Given the description of an element on the screen output the (x, y) to click on. 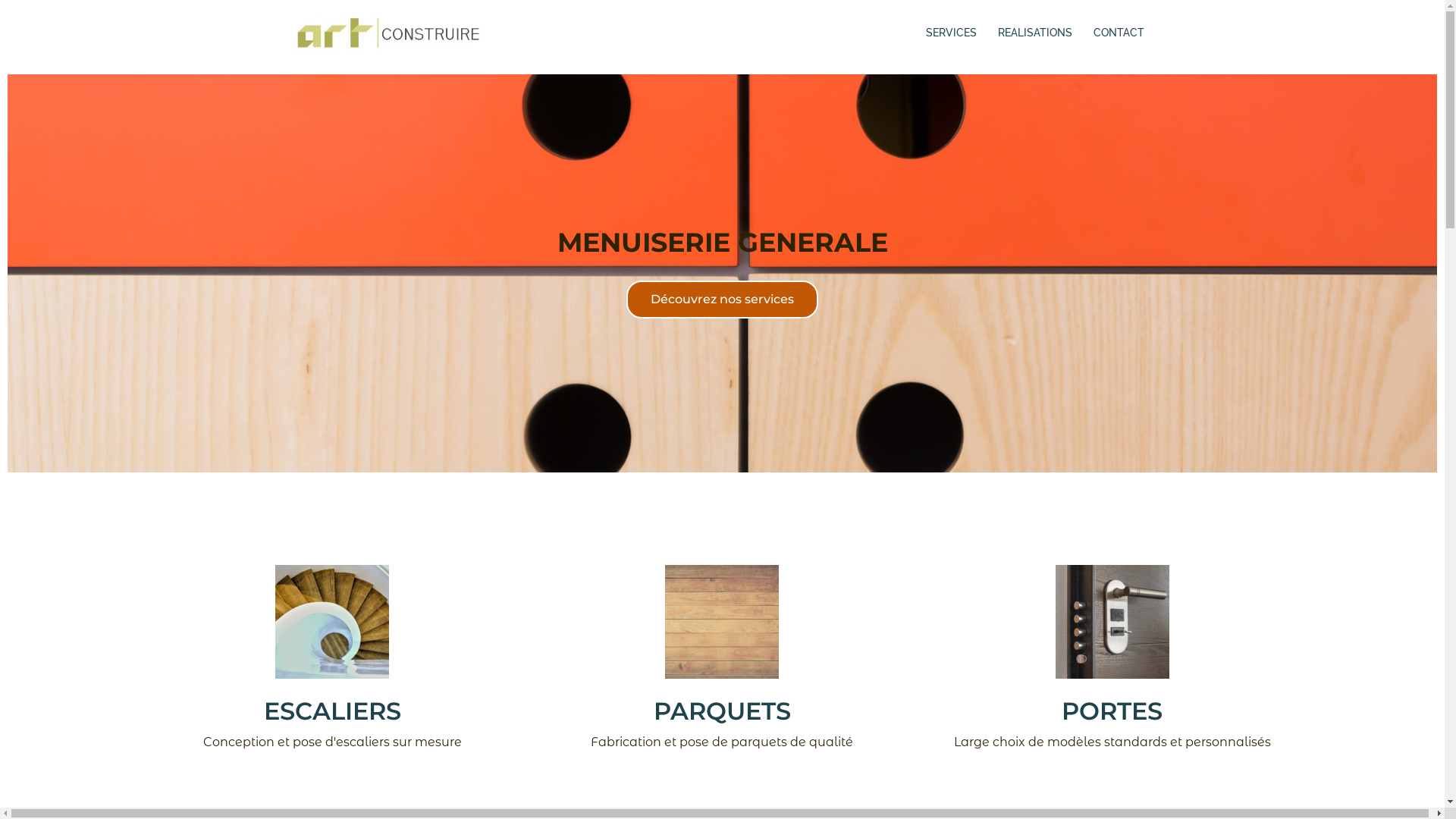
CONTACT Element type: text (1118, 33)
REALISATIONS Element type: text (1034, 33)
PORTES Element type: text (1111, 710)
SERVICES Element type: text (950, 33)
PARQUETS Element type: text (721, 710)
ESCALIERS Element type: text (332, 710)
ART'CONSTRUIRE Element type: hover (388, 31)
